Given the description of an element on the screen output the (x, y) to click on. 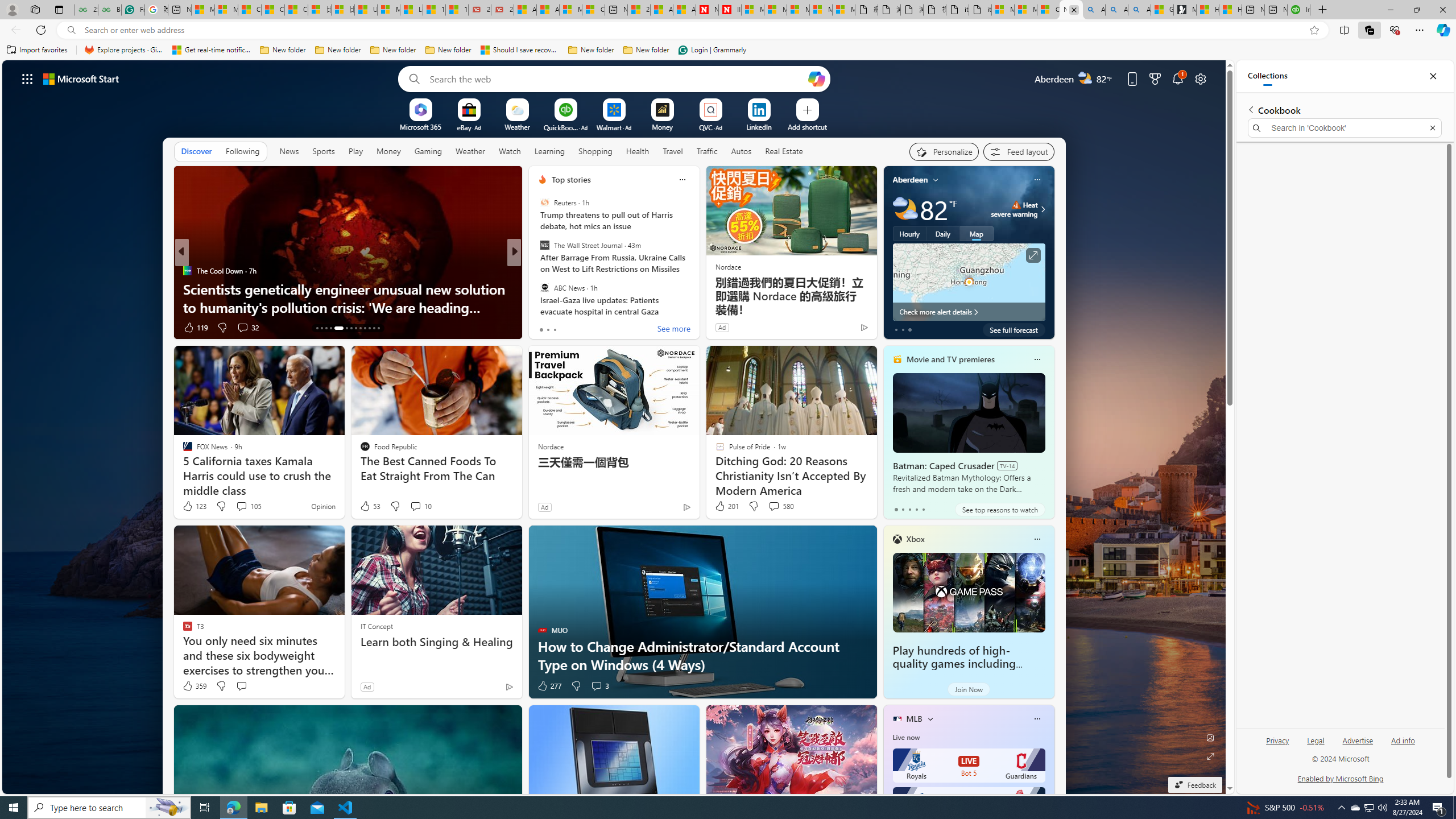
Reuters (544, 202)
49 Like (543, 327)
More interests (930, 718)
View comments 5 Comment (589, 327)
View comments 10 Comment (420, 505)
Favorites bar (728, 49)
119 Like (194, 327)
